Given the description of an element on the screen output the (x, y) to click on. 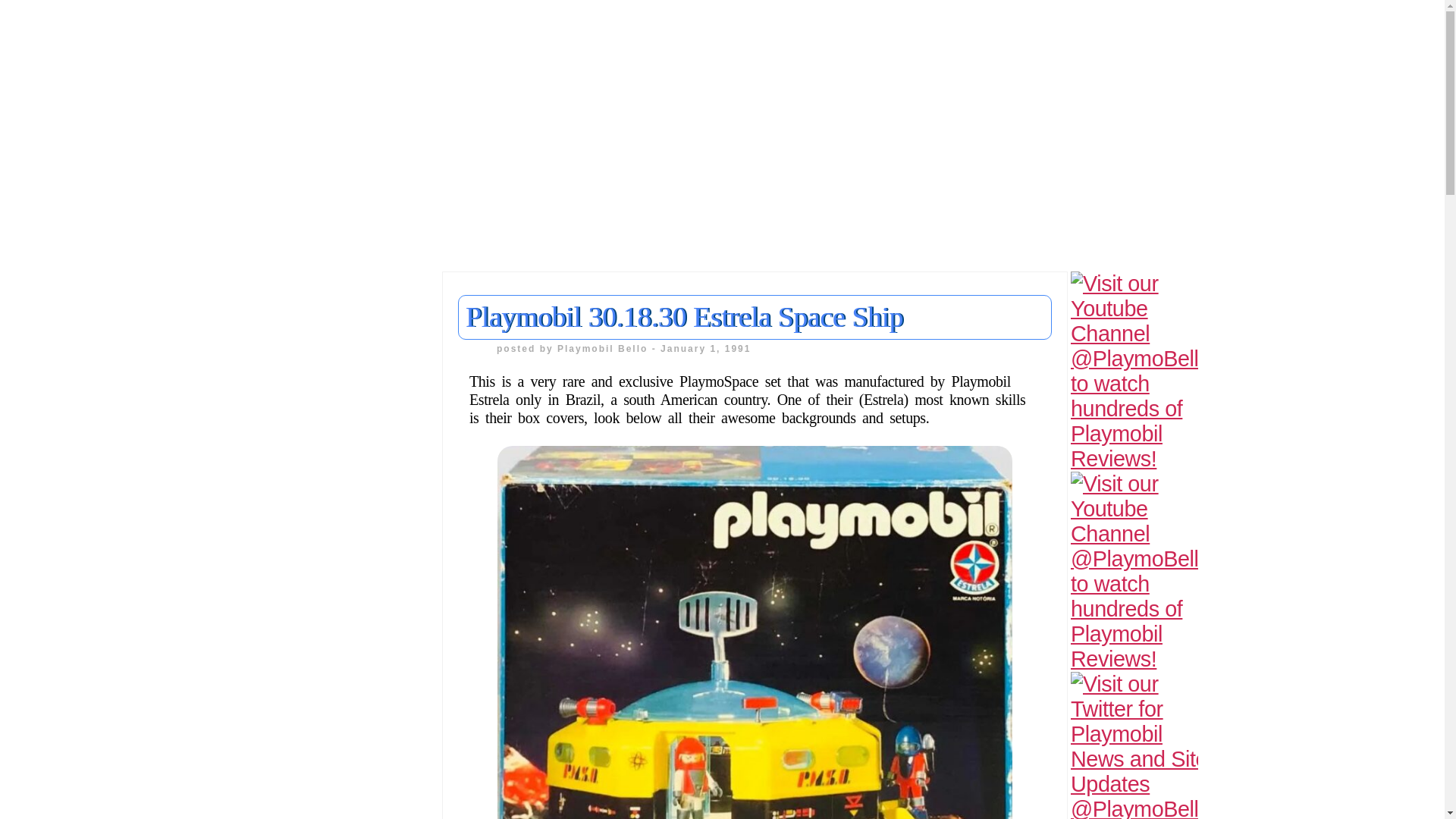
Fantasy (40, 499)
Playmobil Bello - (609, 348)
Knights (40, 611)
History (38, 555)
Cars (30, 471)
Jungle (37, 583)
Playmobil 30.18.30 Estrela Space Ship (683, 316)
About Us (45, 415)
Ayuma (37, 443)
Home (34, 387)
January 1, 1991 (706, 348)
Mystery Series (61, 639)
Novelmore (49, 667)
Houses (39, 527)
